Given the description of an element on the screen output the (x, y) to click on. 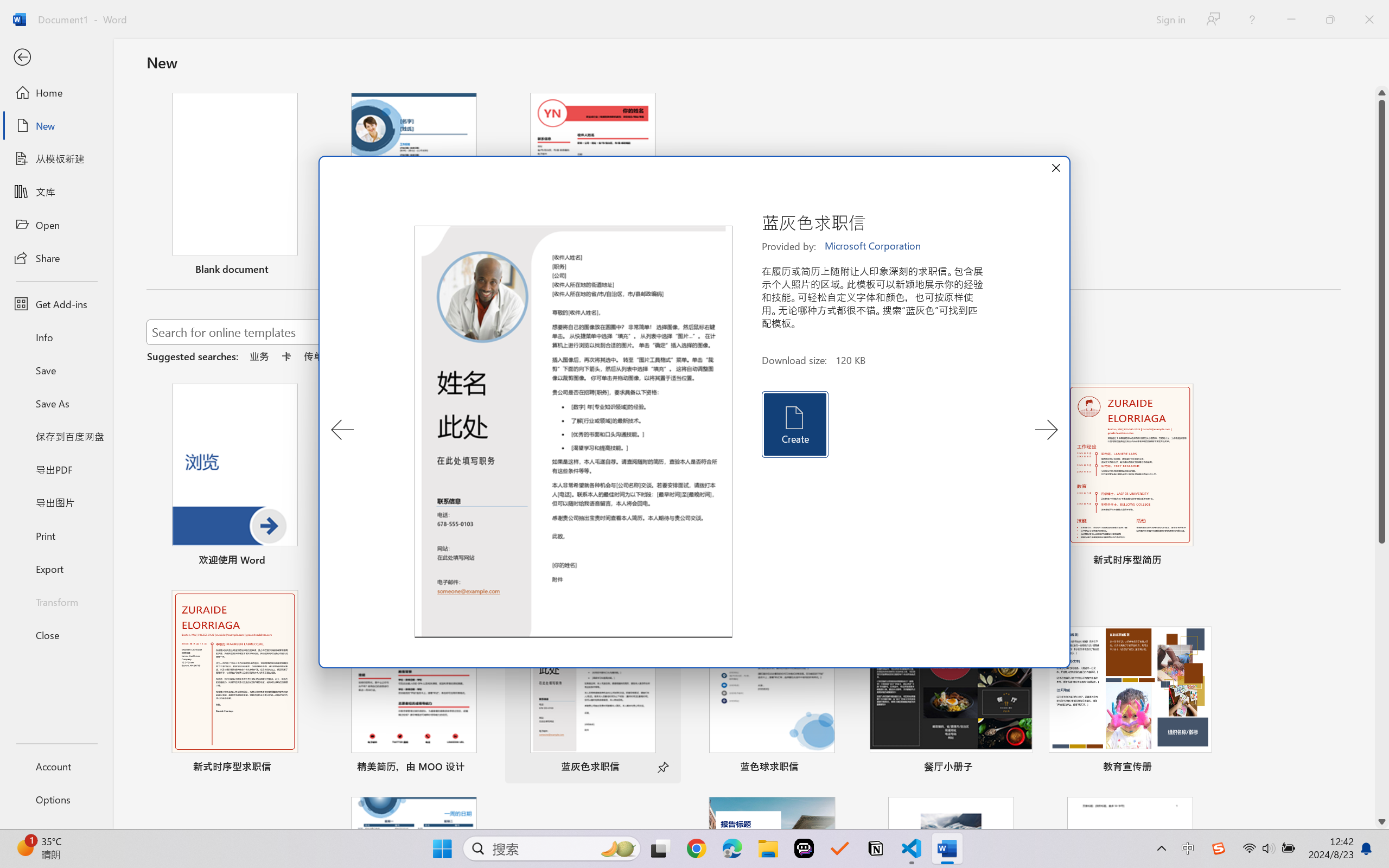
Sign in - Google Accounts (446, 12)
Settings - System (1183, 12)
8 Ball Pool - Apps on Google Play (1240, 12)
See more information on More by Miniclip.com (978, 572)
Google Play logo (60, 71)
Kids (209, 71)
Content rating (524, 396)
Sign in - Google Accounts (844, 12)
Play trailer (1009, 448)
